Given the description of an element on the screen output the (x, y) to click on. 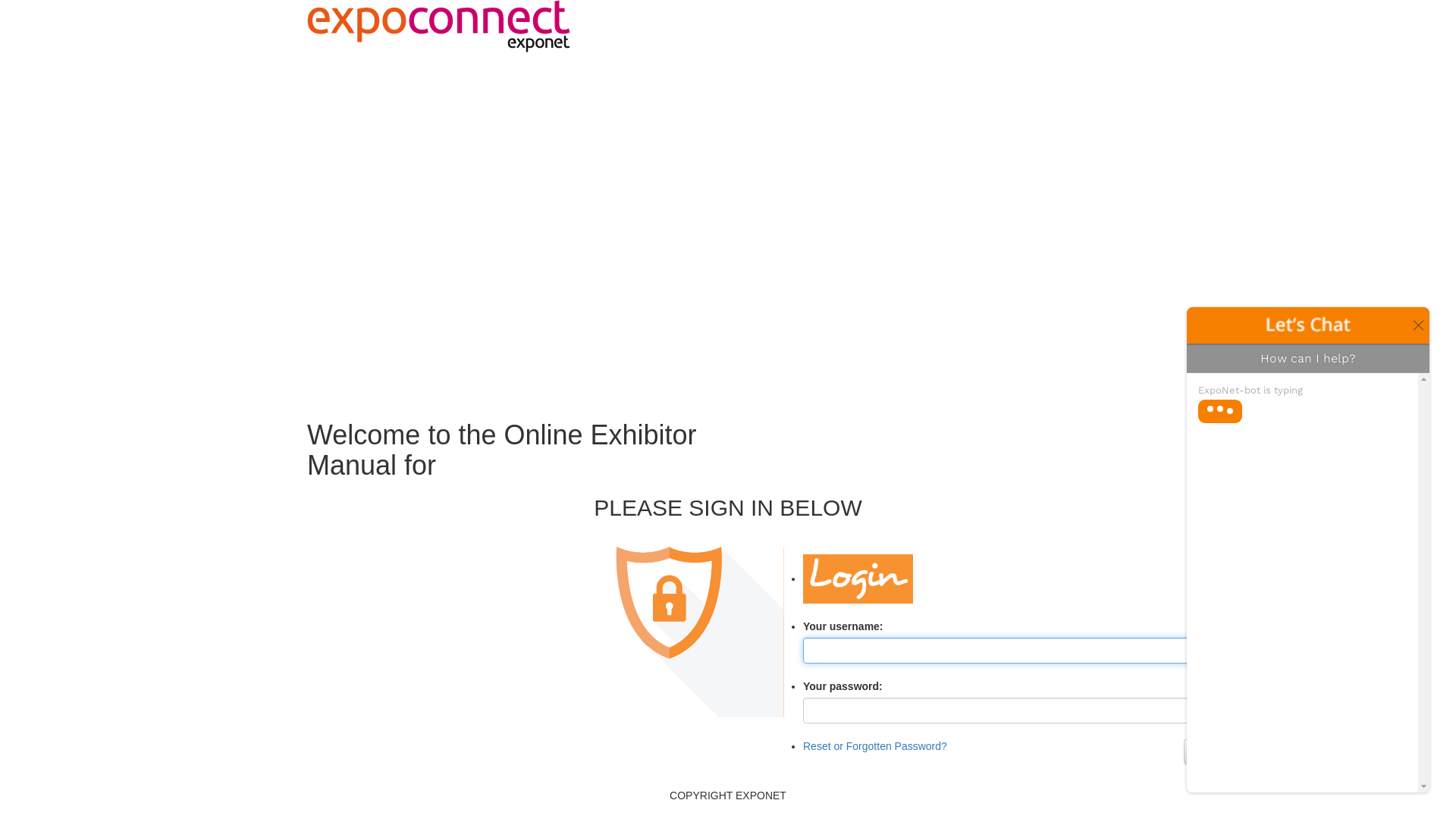
Close widget Element type: hover (1416, 324)
Alive5 chat window Element type: hover (1307, 549)
Reset or Forgotten Password? Element type: text (875, 746)
LOGIN Element type: text (1209, 751)
